Given the description of an element on the screen output the (x, y) to click on. 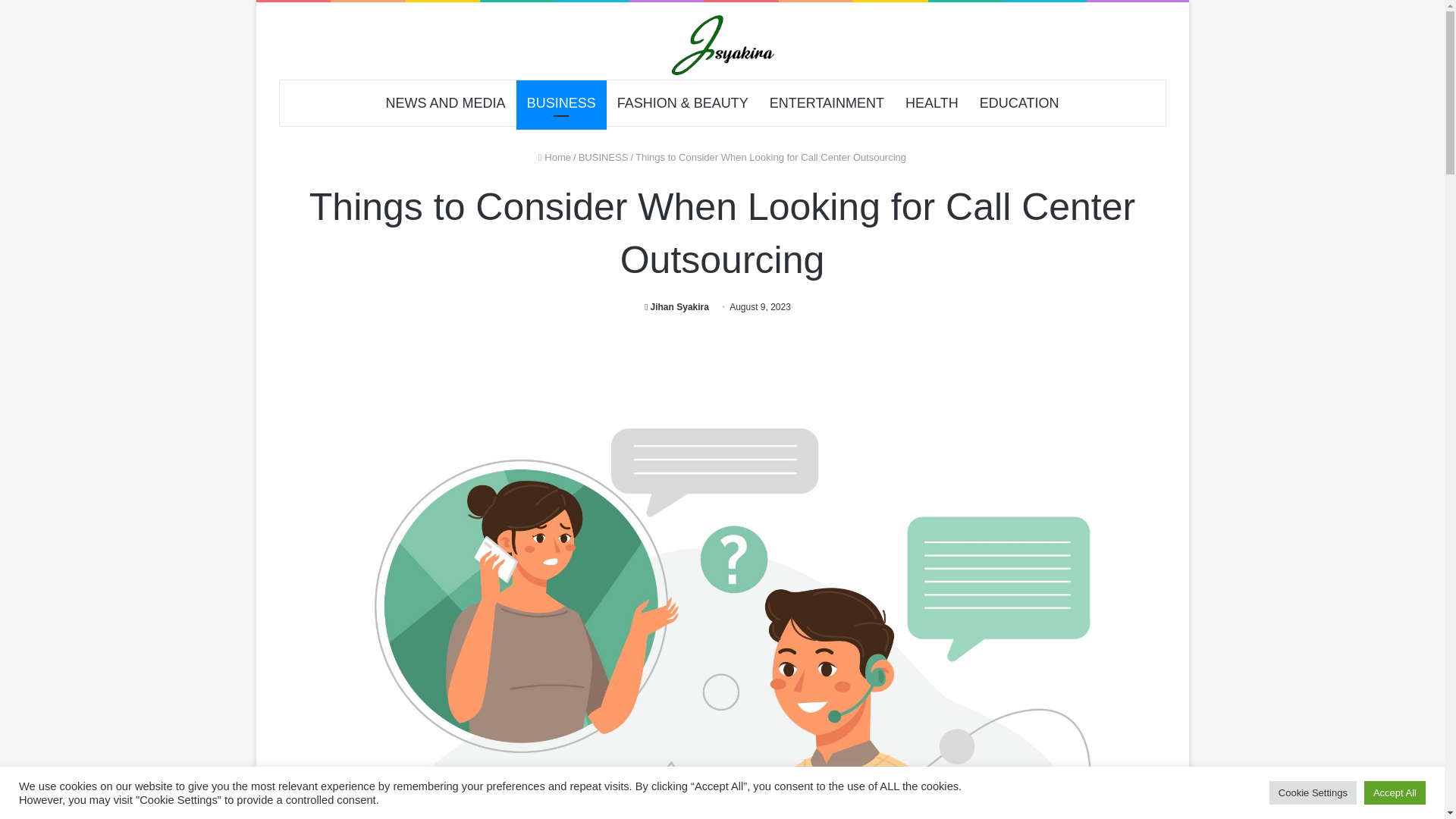
Jihan Syakira (677, 307)
NEWS AND MEDIA (445, 103)
EDUCATION (1019, 103)
BUSINESS (561, 103)
Jihan Syakira (677, 307)
HEALTH (932, 103)
Home (554, 156)
Jihan Syakira (721, 44)
ENTERTAINMENT (826, 103)
BUSINESS (603, 156)
